Given the description of an element on the screen output the (x, y) to click on. 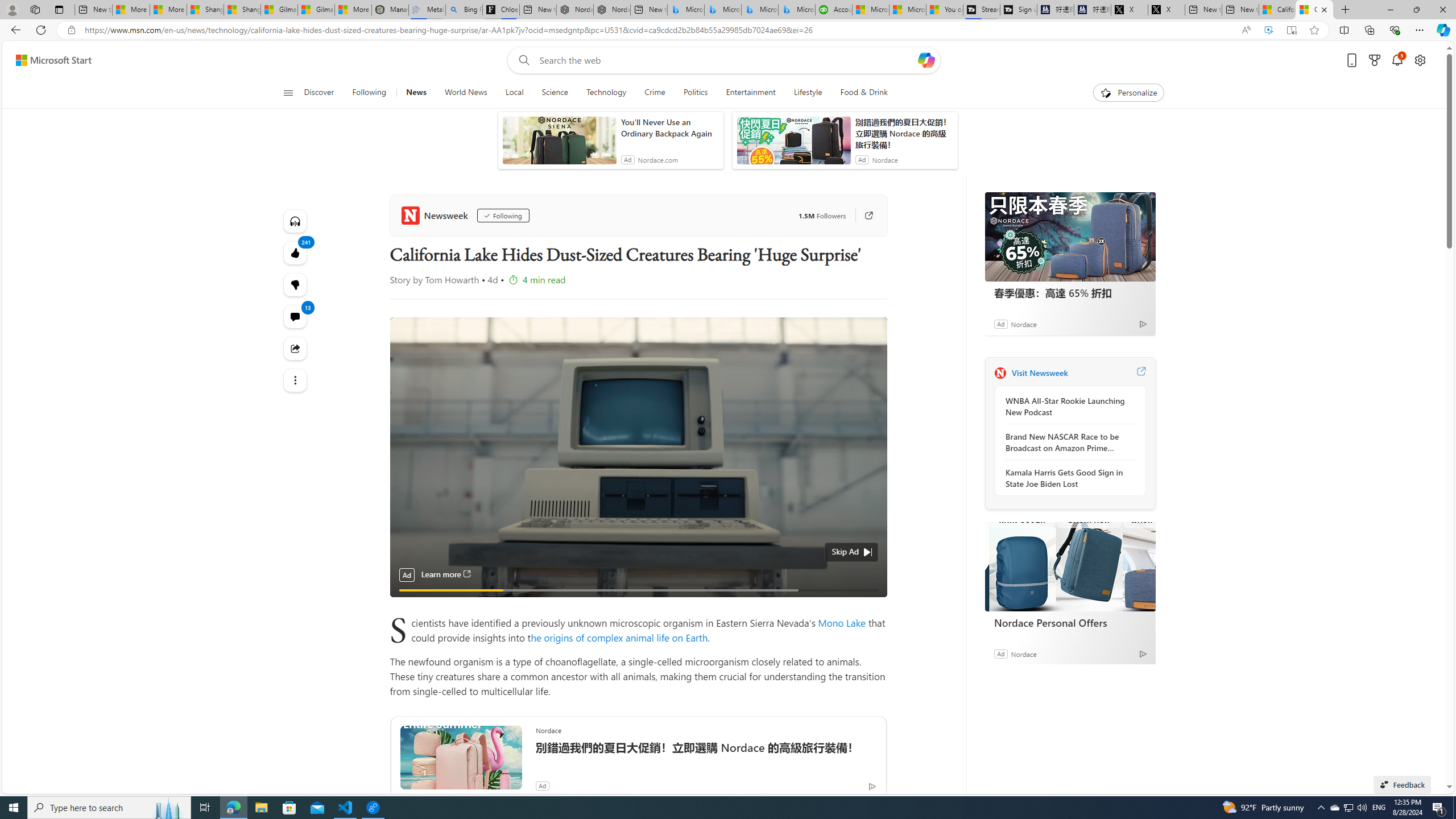
Nordace Personal Offers (1070, 566)
Learn more (446, 574)
Science (554, 92)
Food & Drink (859, 92)
Share this story (295, 348)
Newsweek (436, 215)
